Given the description of an element on the screen output the (x, y) to click on. 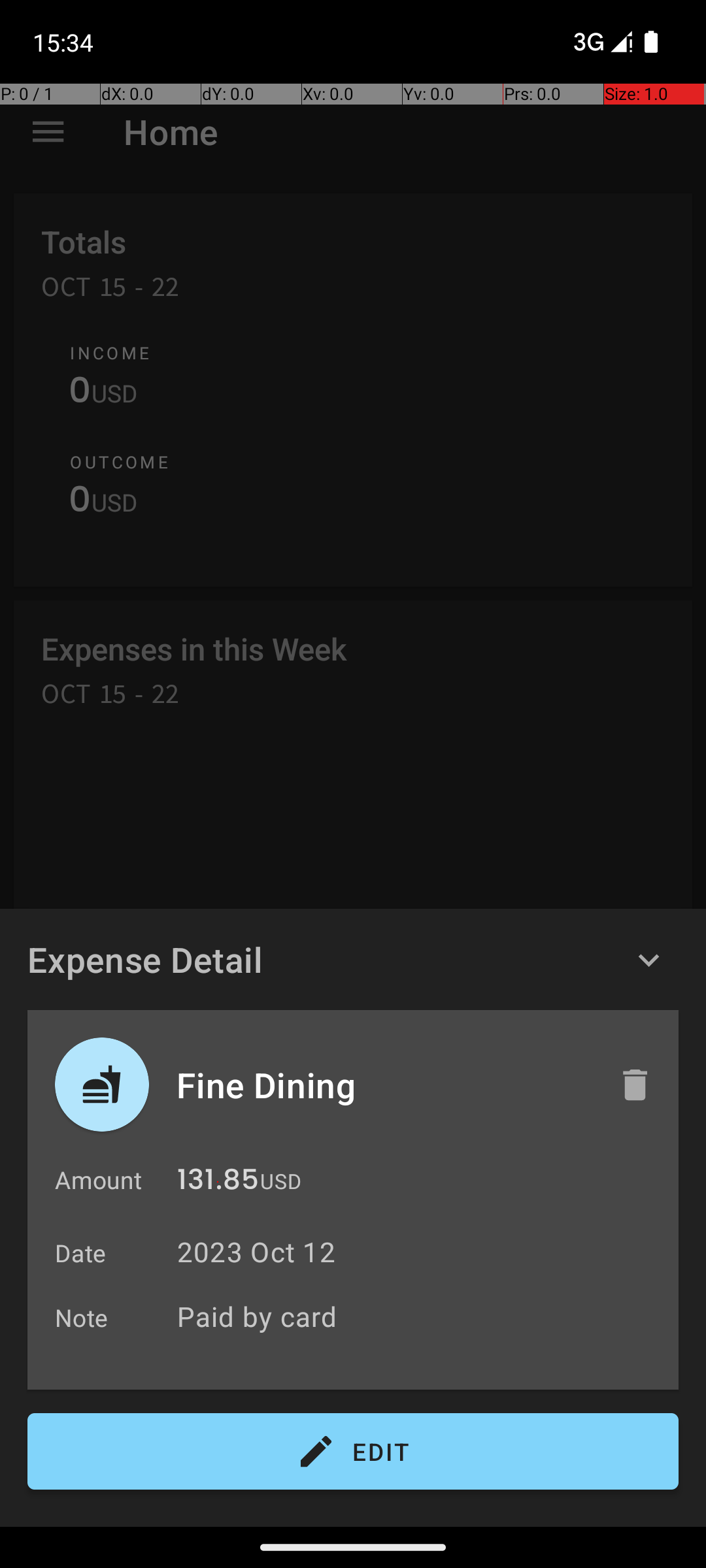
Fine Dining Element type: android.widget.TextView (383, 1084)
131.85 Element type: android.widget.TextView (217, 1182)
Paid by card Element type: android.widget.TextView (420, 1315)
